Given the description of an element on the screen output the (x, y) to click on. 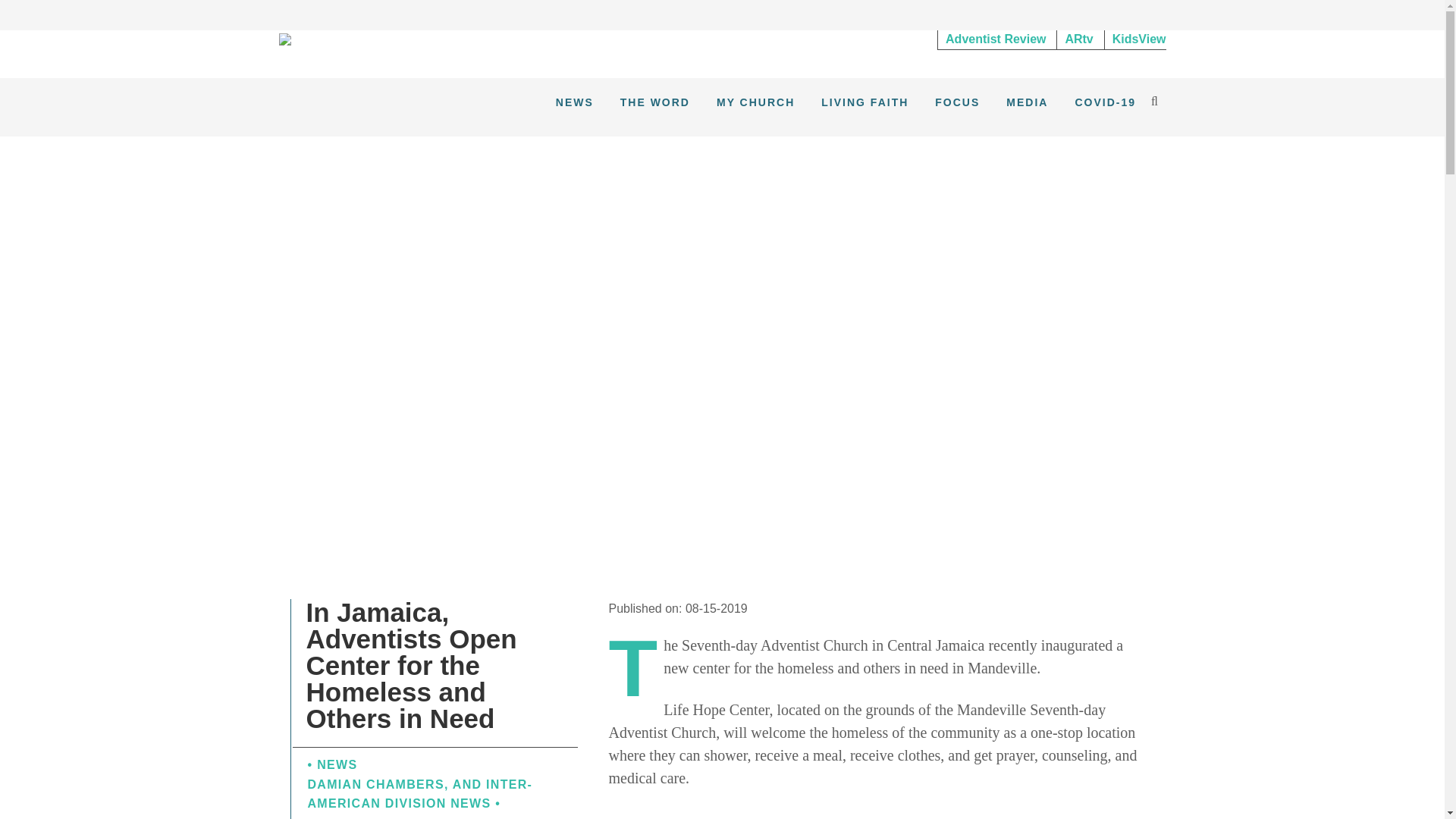
THE WORD (654, 101)
MEDIA (1026, 101)
KidsView (1135, 39)
COVID-19 (1104, 101)
To bind together the Adventist people. (285, 38)
ARtv (1078, 39)
MY CHURCH (755, 101)
LIVING FAITH (864, 101)
DAMIAN CHAMBERS, AND INTER-AMERICAN DIVISION NEWS (419, 794)
FOCUS (957, 101)
